Given the description of an element on the screen output the (x, y) to click on. 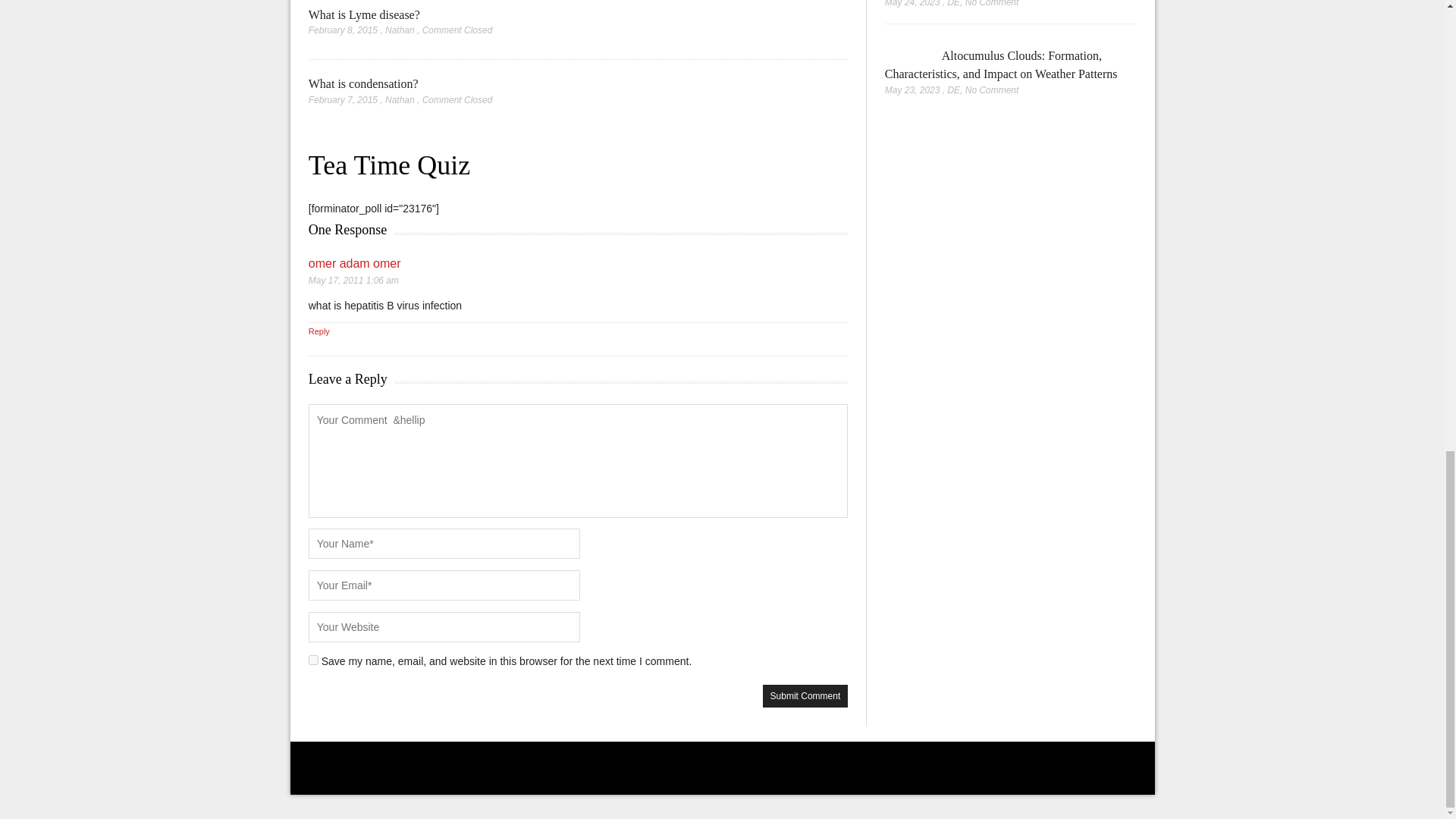
omer adam omer (354, 263)
yes (313, 660)
What is Lyme disease? (364, 14)
May 17, 2011 1:06 am (353, 280)
Posts by Nathan (399, 30)
Nathan (399, 100)
Submit Comment (805, 695)
Submit Comment (805, 695)
Nathan (399, 30)
Reply (319, 330)
Posts by Nathan (399, 100)
What is condensation? (363, 83)
What is condensation? (363, 83)
What is Lyme disease? (364, 14)
